Given the description of an element on the screen output the (x, y) to click on. 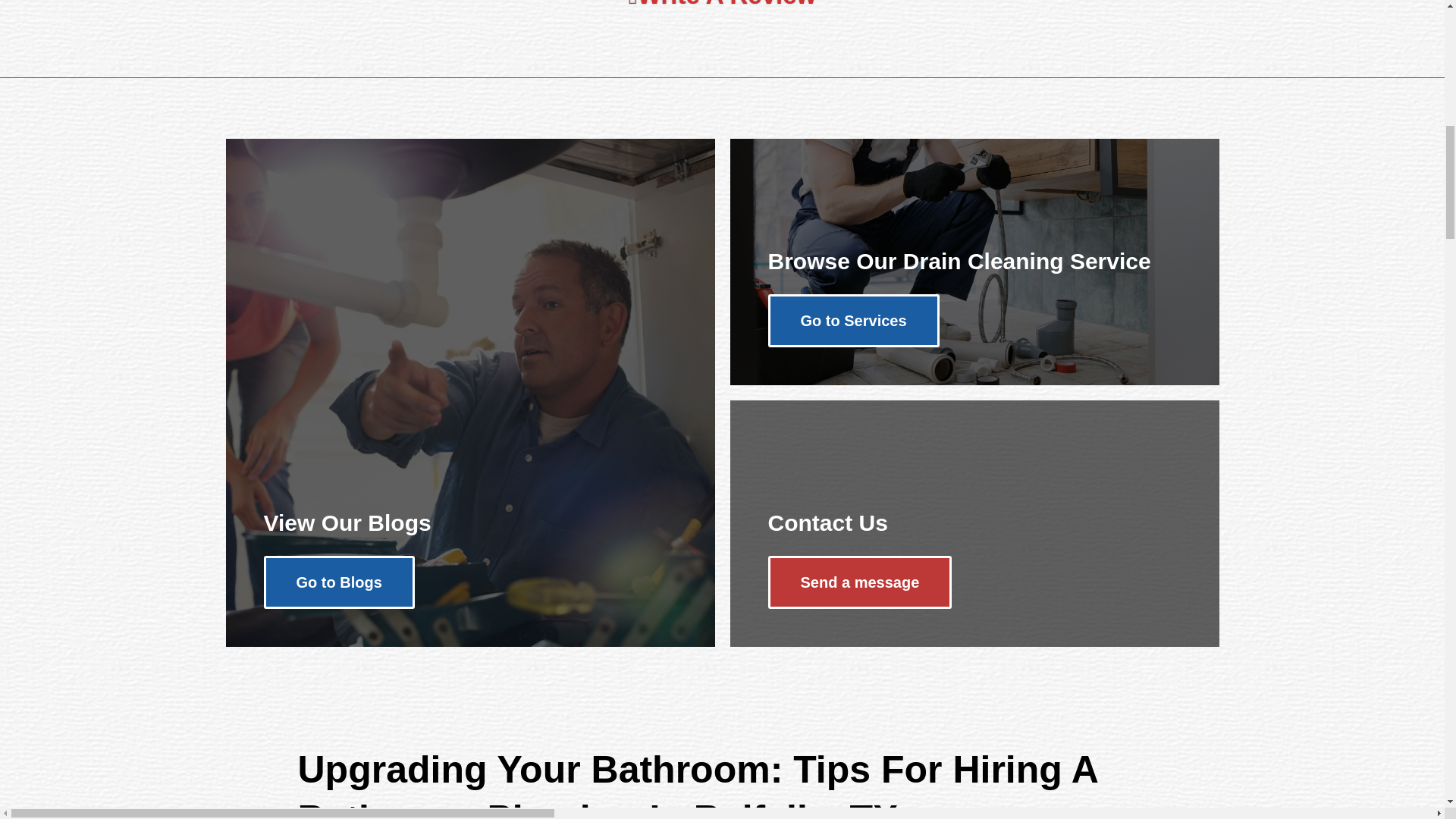
Write A Review (721, 4)
Send a message (859, 582)
Go to Services (853, 320)
Go to Blogs (338, 582)
